Given the description of an element on the screen output the (x, y) to click on. 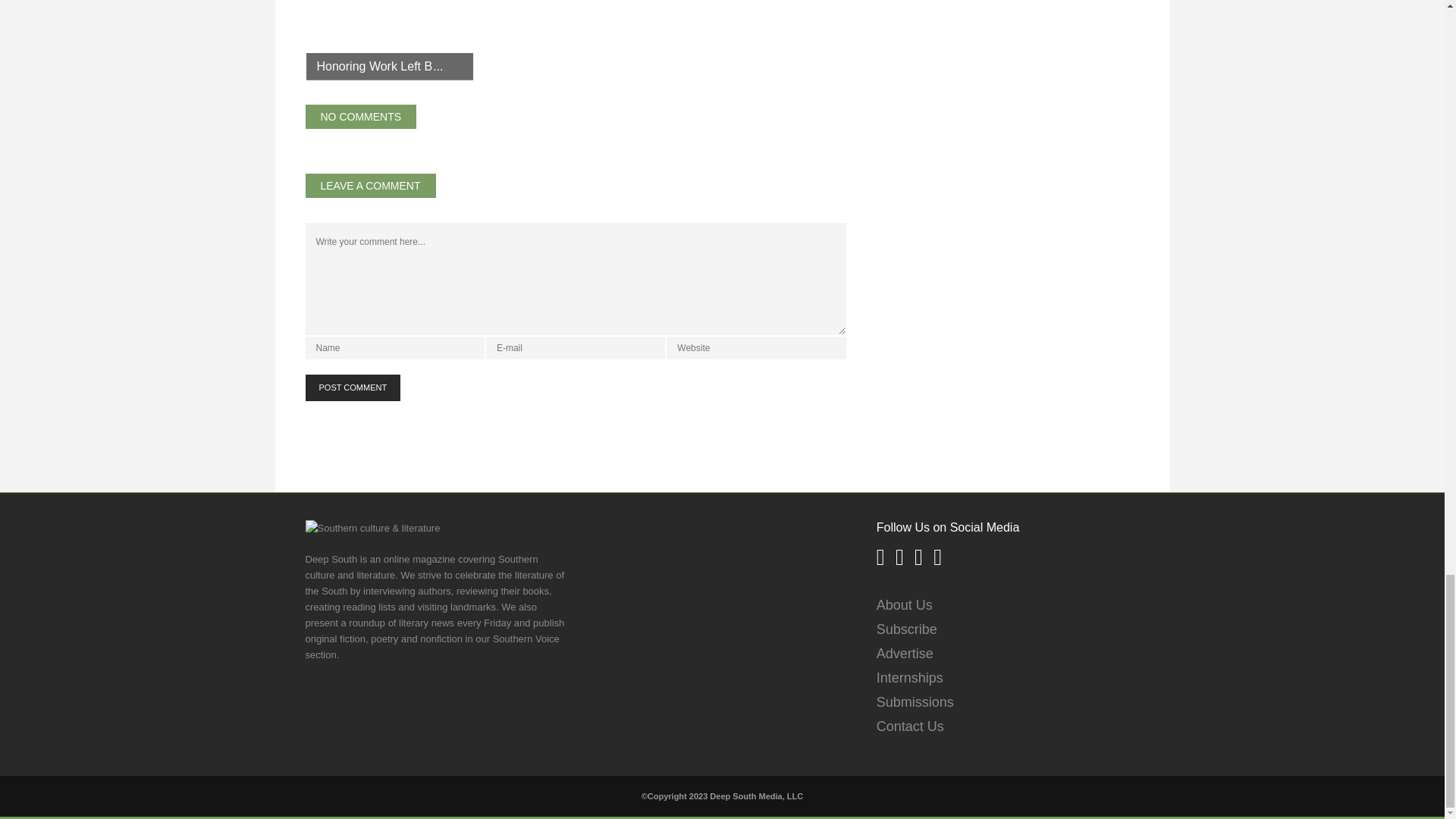
POST COMMENT (352, 387)
Honoring Work Left Behind With Jessica Hooten Wilson (389, 40)
Honoring Work Left Behind With Jessica Hooten Wilson (380, 65)
